Given the description of an element on the screen output the (x, y) to click on. 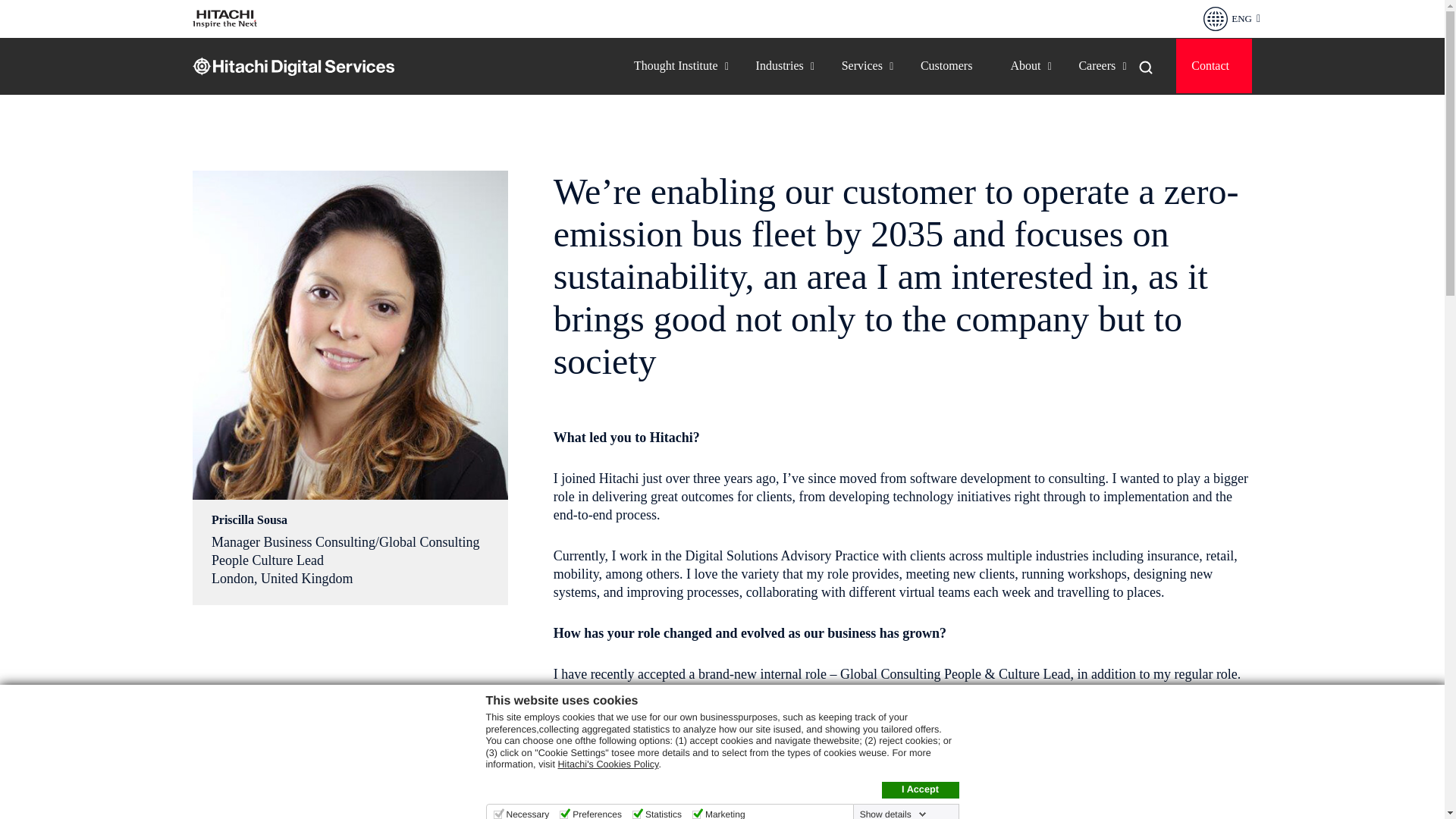
I Accept (919, 790)
Show details (893, 813)
Hitachi's Cookies Policy (607, 764)
